Given the description of an element on the screen output the (x, y) to click on. 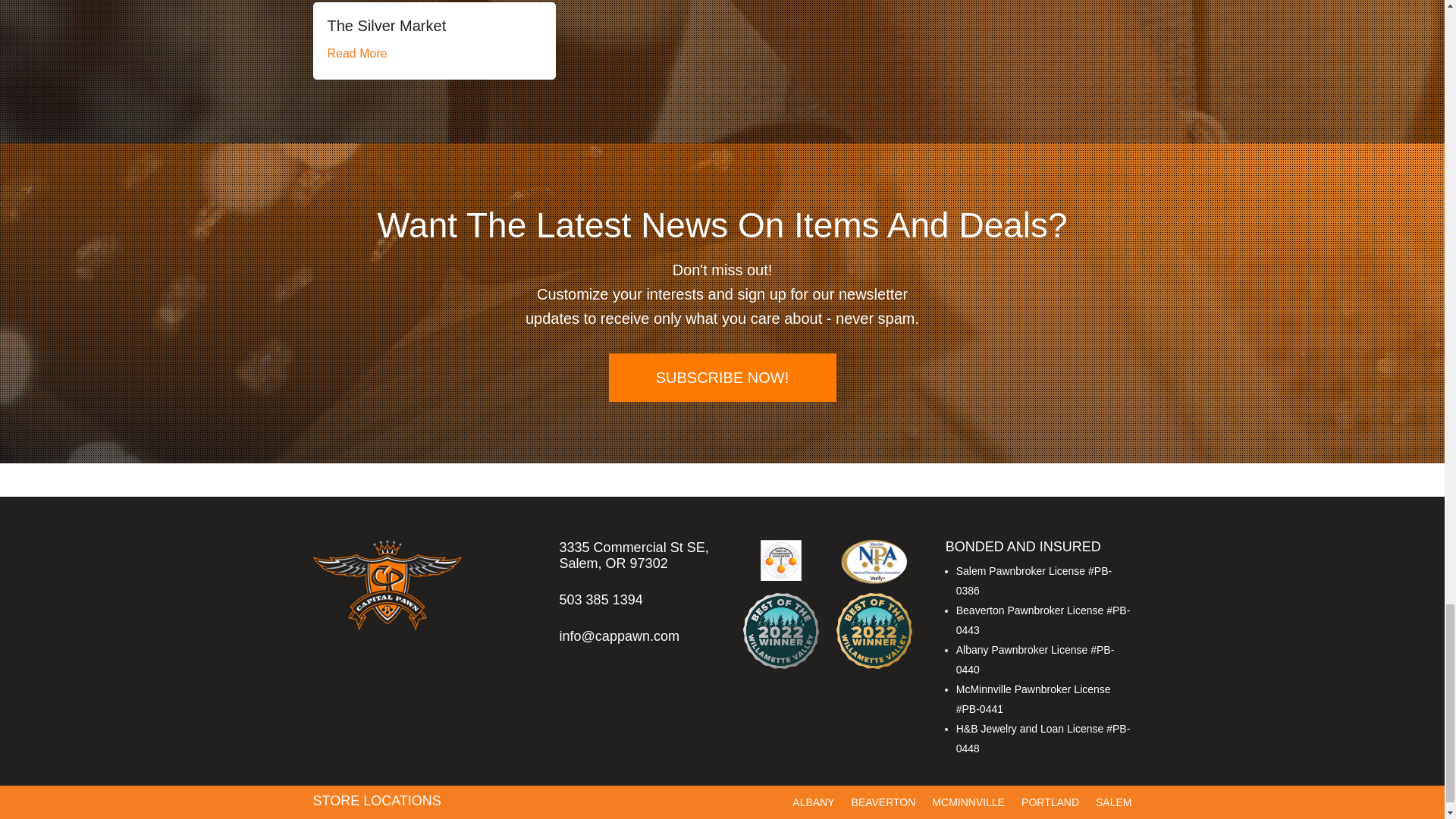
seal (874, 563)
Youtube (1097, 814)
Yelp (1075, 814)
Logo (387, 584)
Facebook (1001, 814)
google (1122, 814)
ebay (1037, 808)
